Given the description of an element on the screen output the (x, y) to click on. 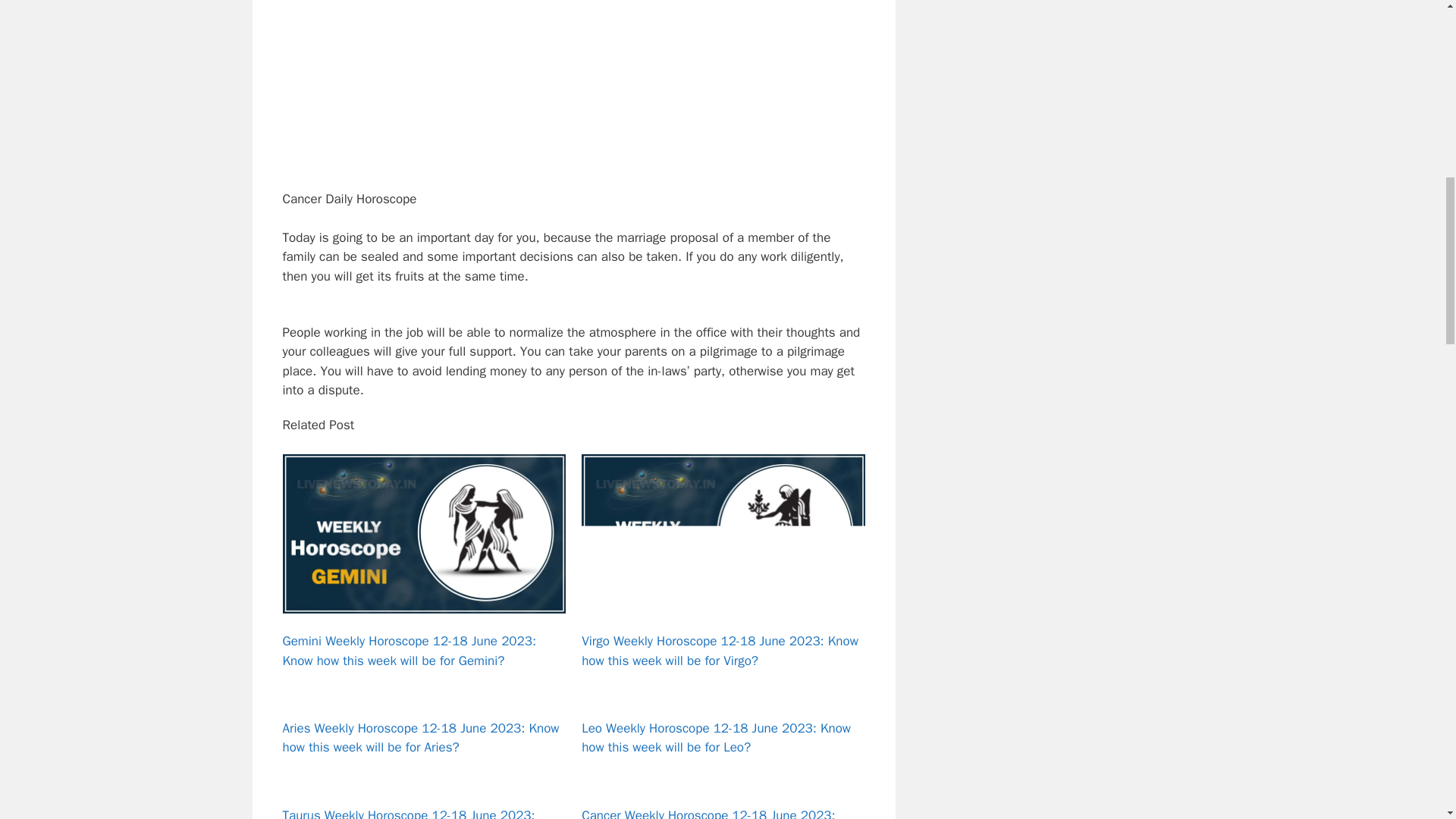
Advertisement (588, 91)
